Given the description of an element on the screen output the (x, y) to click on. 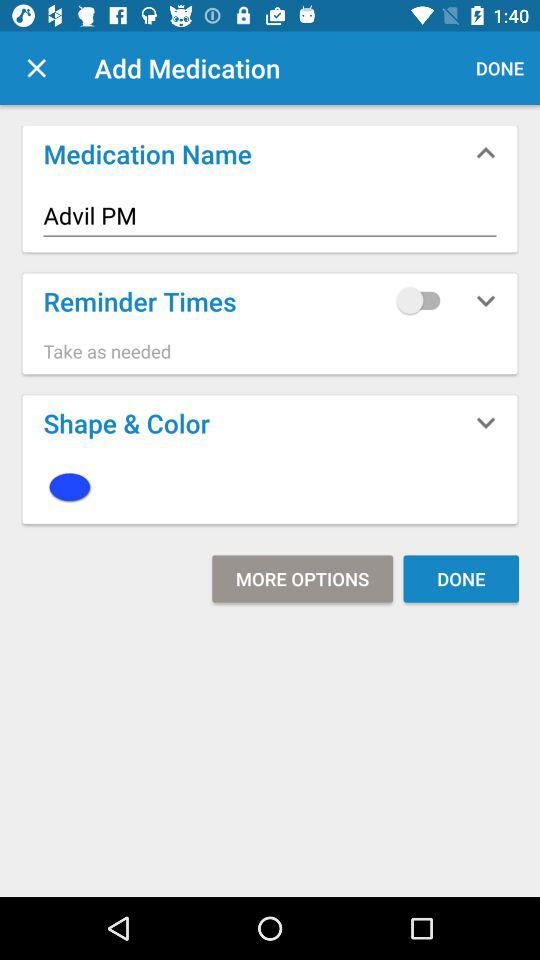
toggle reminder option (423, 300)
